Given the description of an element on the screen output the (x, y) to click on. 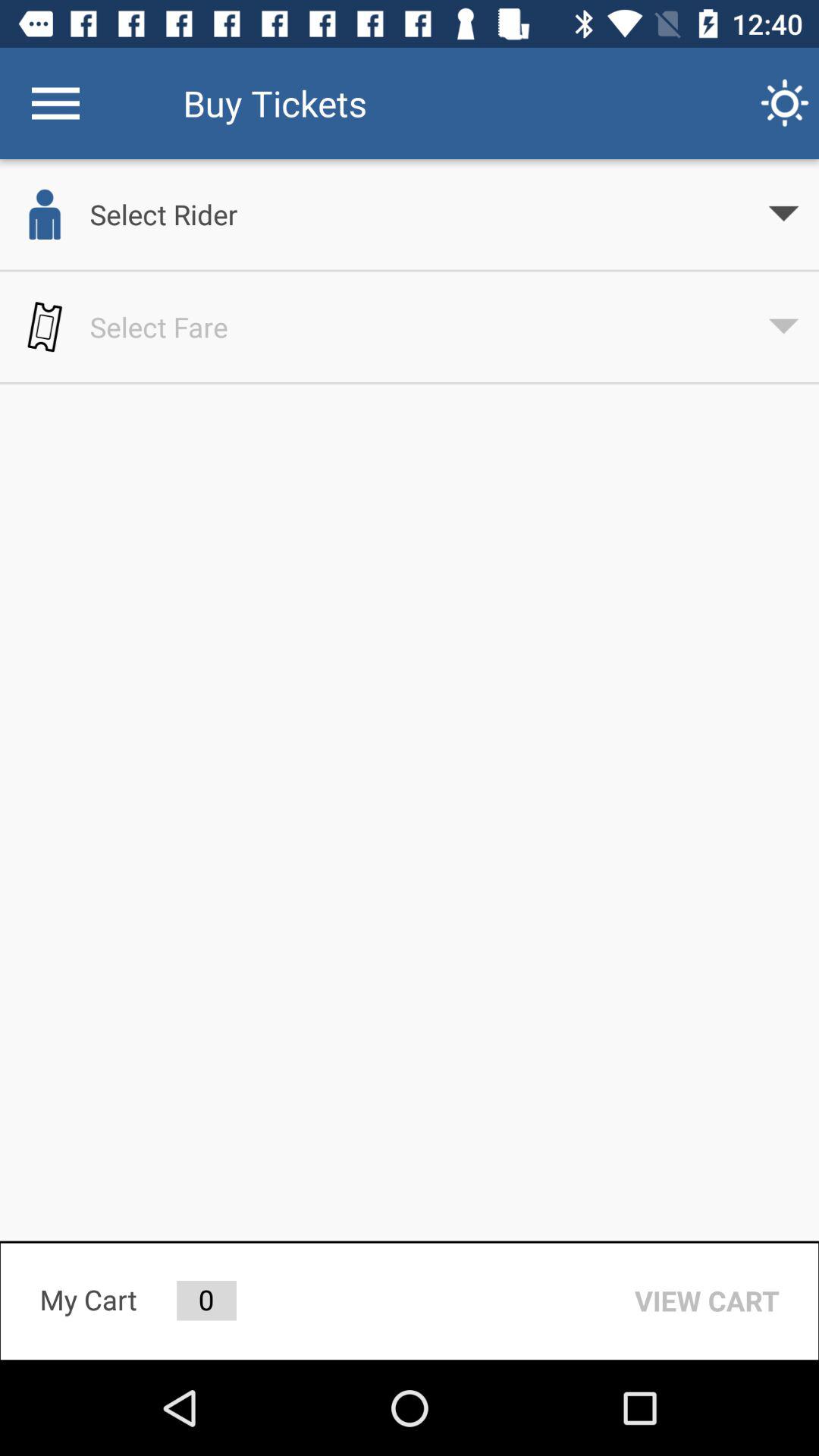
launch the icon next to the 0 item (706, 1300)
